Given the description of an element on the screen output the (x, y) to click on. 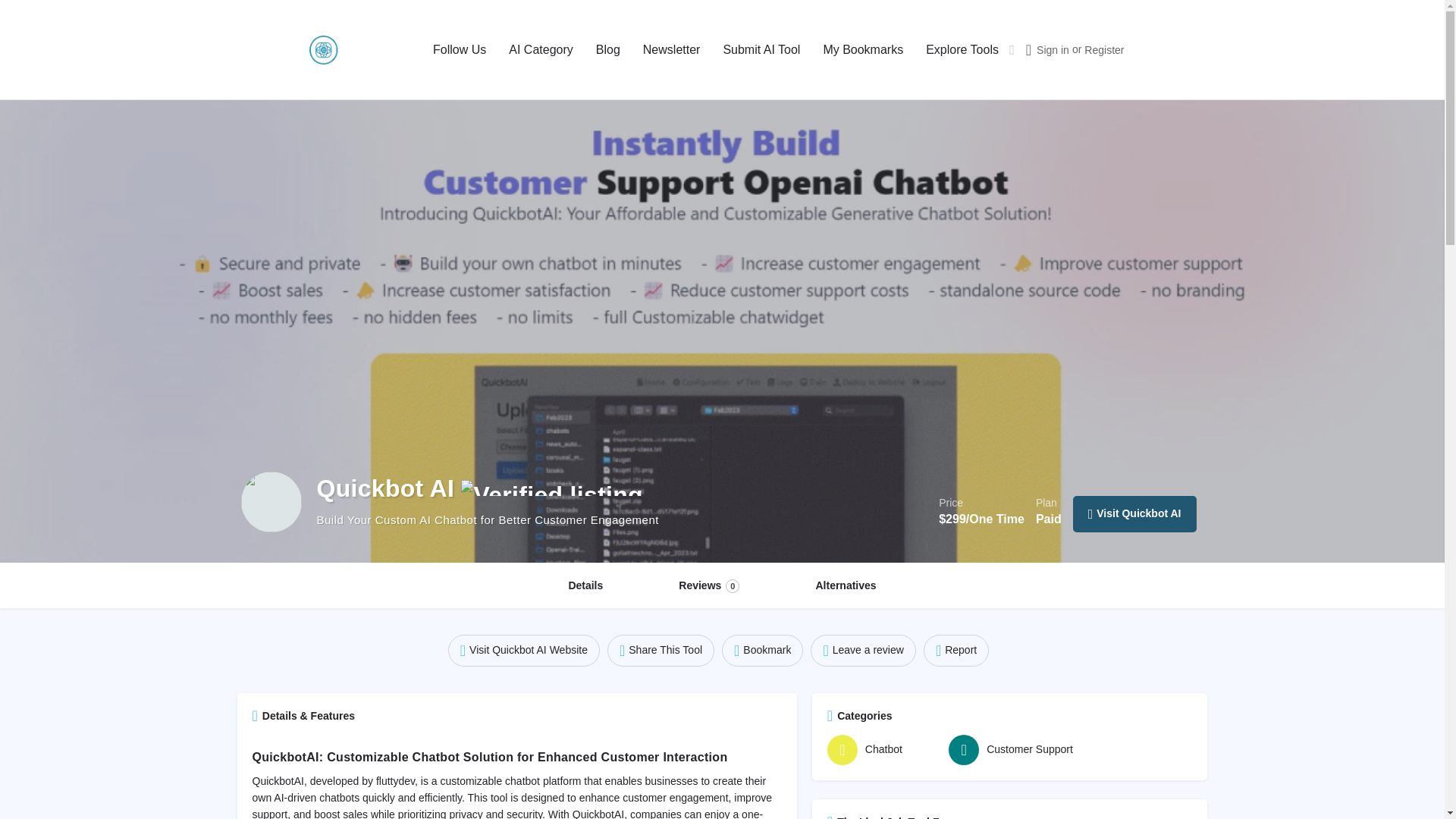
My Bookmarks (862, 49)
Category (540, 49)
Visit Quickbot AI (1134, 514)
Report (955, 650)
Submit AI Tool (760, 49)
My Bookmarks (862, 49)
Newsletter (671, 49)
Explore Tools (962, 49)
Share This Tool (660, 650)
Details (584, 586)
Blog (607, 49)
Follow Us (459, 49)
Blog (607, 49)
Alternatives (845, 586)
Follow Us (459, 49)
